Given the description of an element on the screen output the (x, y) to click on. 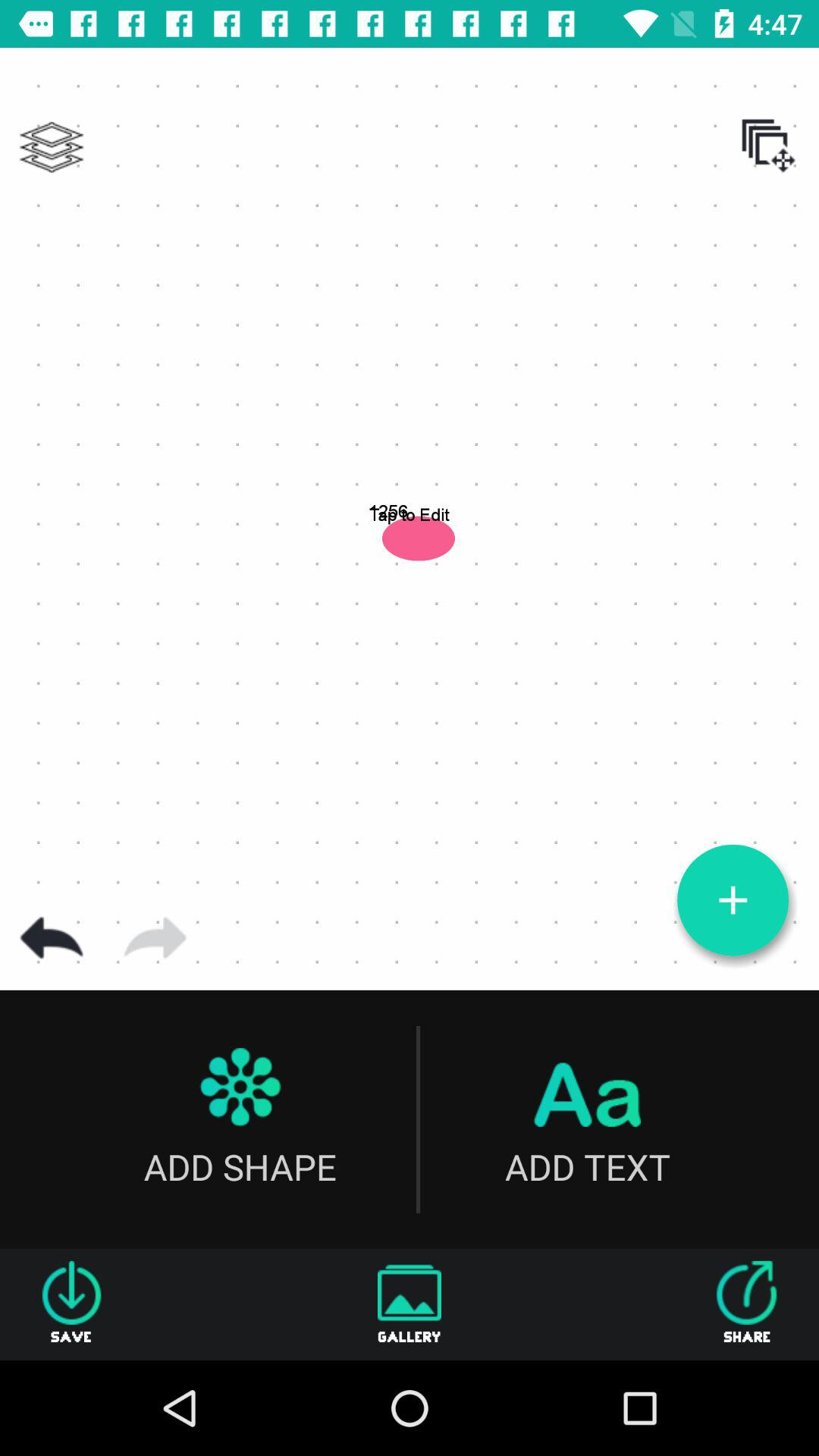
undo (51, 938)
